Given the description of an element on the screen output the (x, y) to click on. 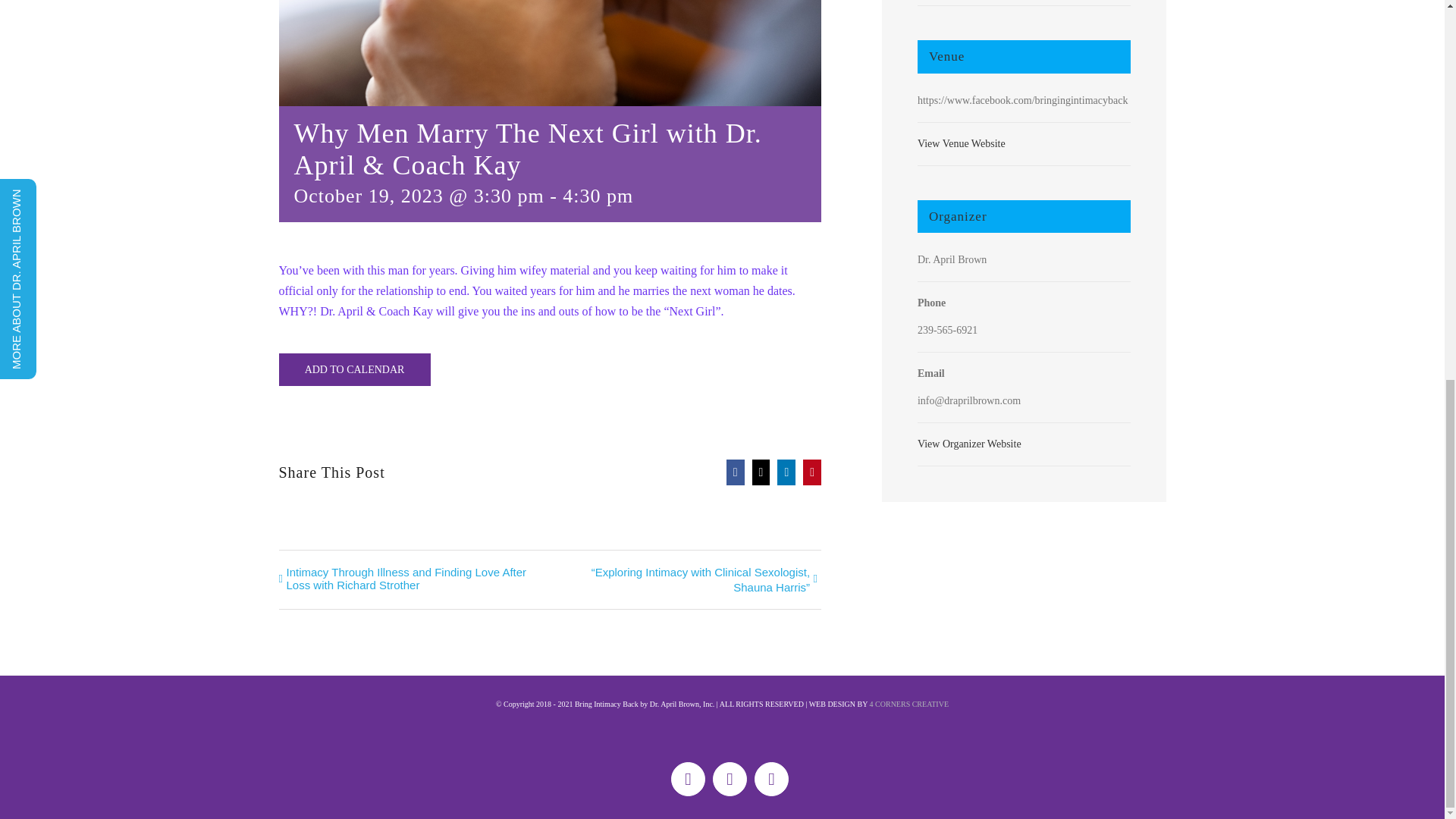
Facebook (687, 779)
YouTube (771, 779)
X (729, 779)
ADD TO CALENDAR (354, 369)
